Given the description of an element on the screen output the (x, y) to click on. 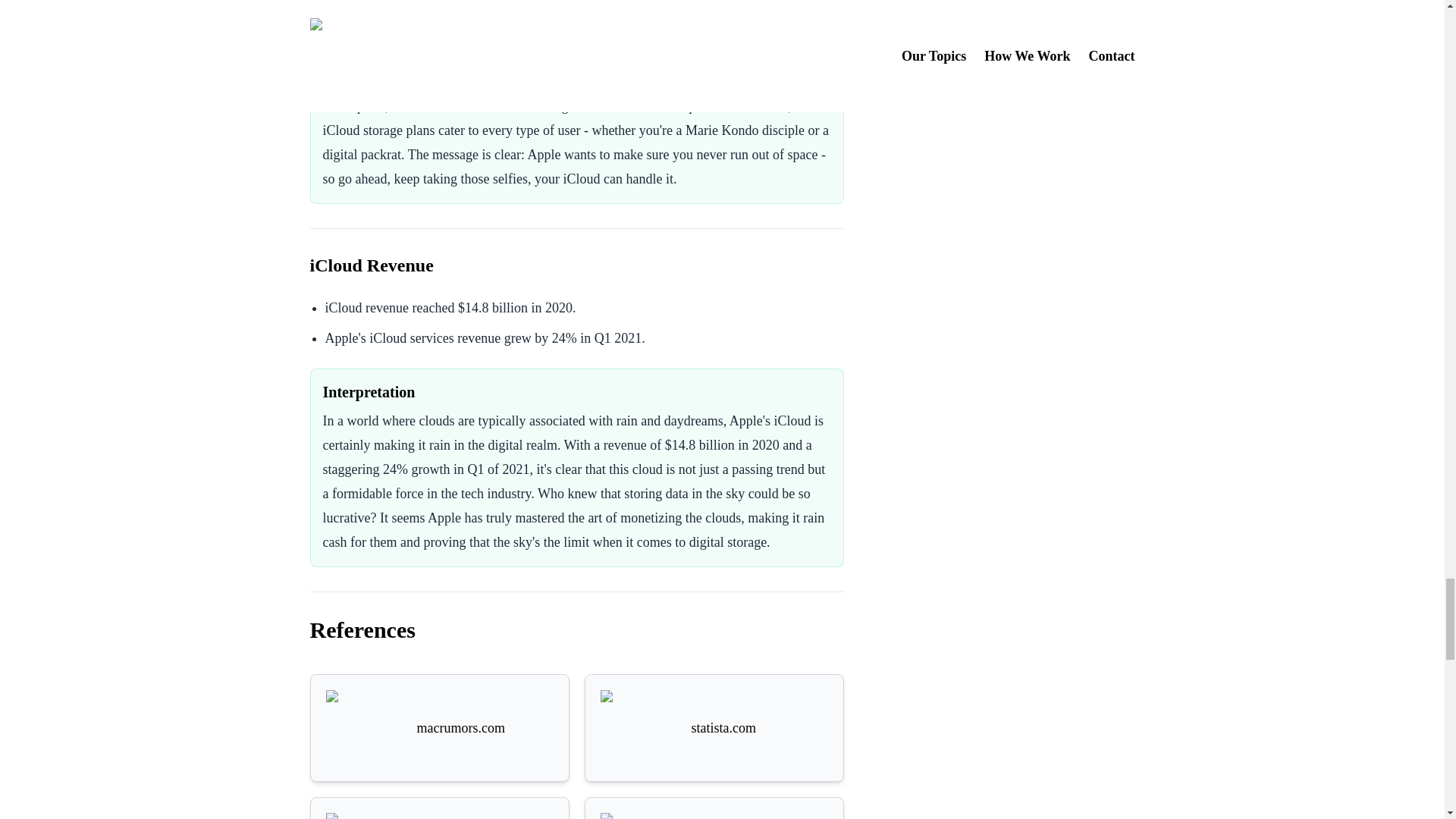
businessofapps.com (439, 816)
Logo of macrumors.com (363, 727)
Logo of statista.com (638, 727)
Logo of support.apple.com (638, 816)
Logo of businessofapps.com (363, 816)
macrumors.com (439, 727)
statista.com (713, 727)
support.apple.com (713, 816)
